Given the description of an element on the screen output the (x, y) to click on. 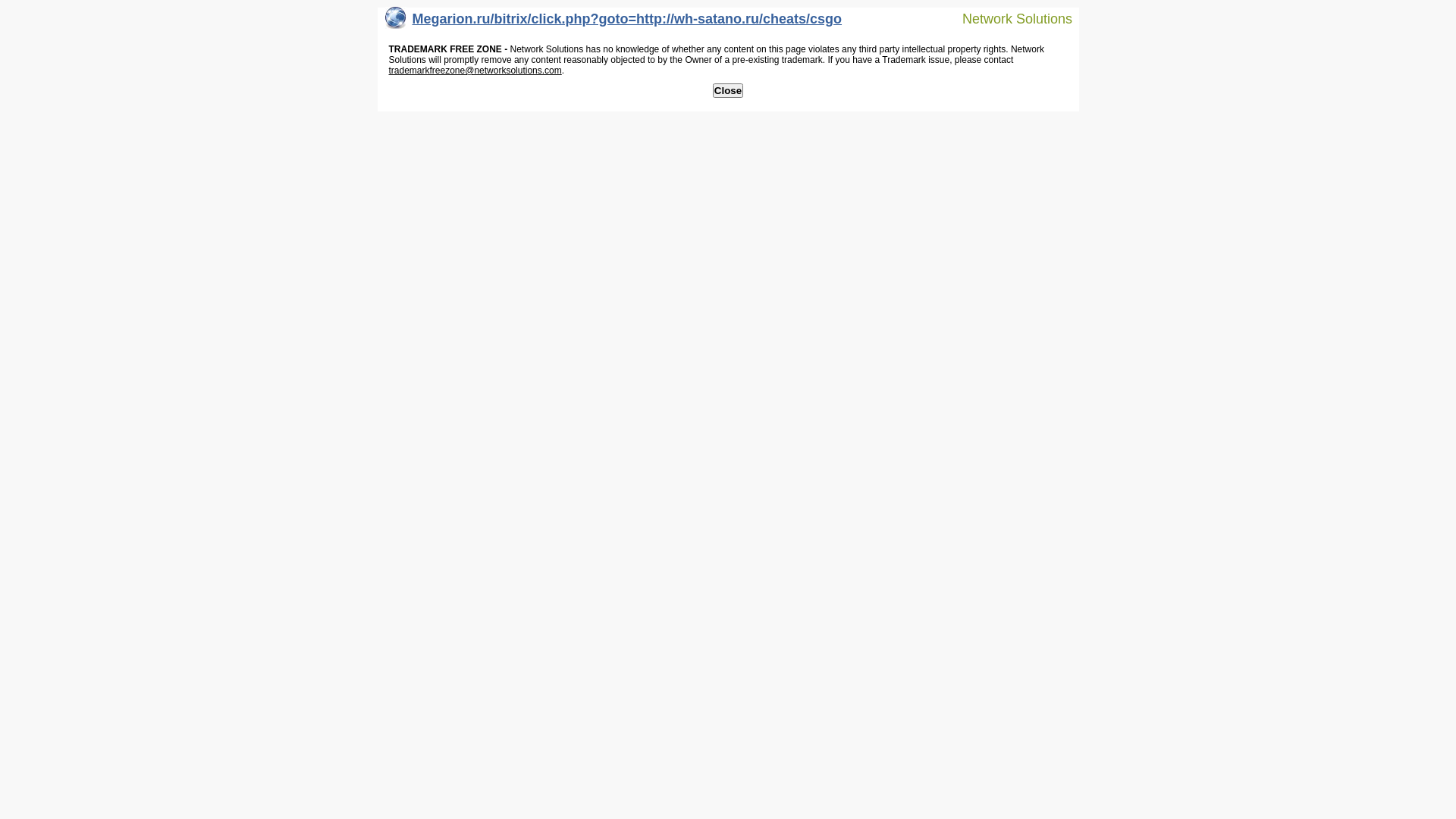
Network Solutions Element type: text (1007, 17)
Close Element type: text (727, 90)
trademarkfreezone@networksolutions.com Element type: text (474, 70)
